Given the description of an element on the screen output the (x, y) to click on. 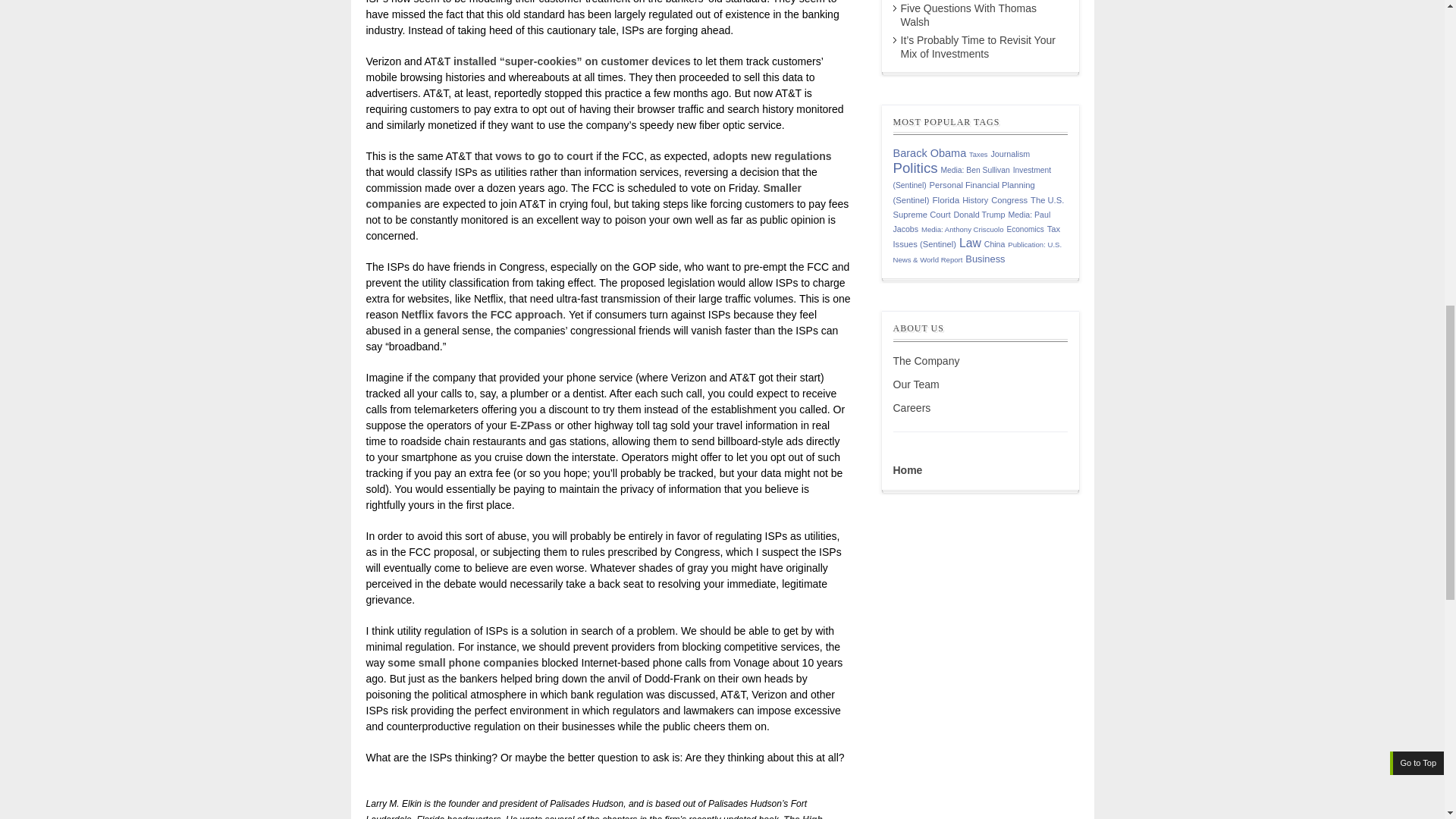
Netflix favors the FCC approach (481, 314)
Smaller companies (583, 195)
E-ZPass (530, 425)
adopts new regulations (772, 155)
vows to go to court (543, 155)
some small phone companies (464, 662)
